Given the description of an element on the screen output the (x, y) to click on. 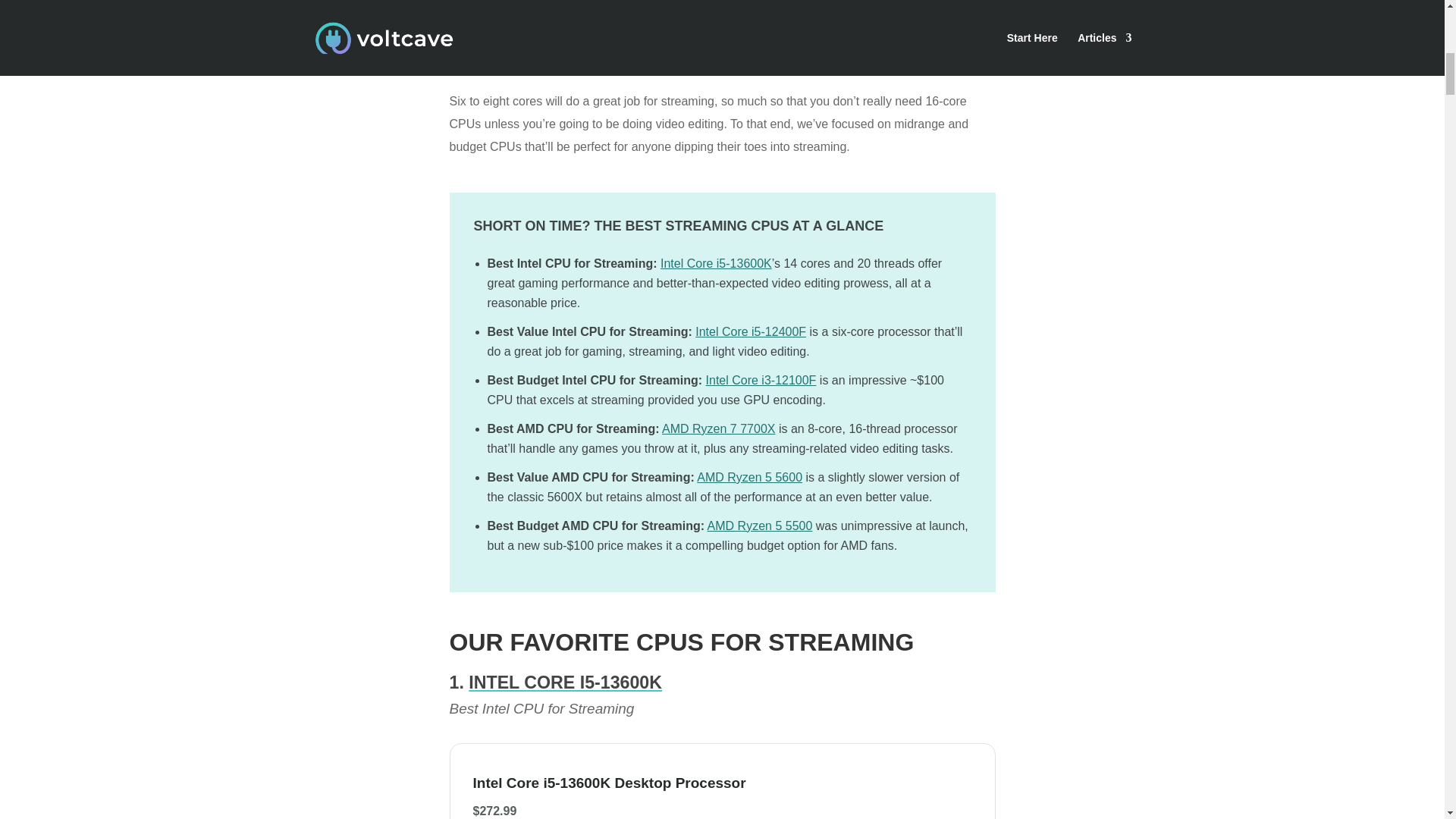
Intel Core i5-13600K (716, 263)
AMD Ryzen 5 5600 (749, 477)
INTEL CORE I5-13600K (565, 682)
Intel Core i5-12400F (750, 331)
Intel Core i5-13600K Desktop Processor (641, 782)
Intel Core i3-12100F (761, 379)
Intel Core i5-13600K Desktop Processor (641, 782)
AMD Ryzen 7 7700X (718, 428)
AMD Ryzen 5 5500 (759, 525)
